Given the description of an element on the screen output the (x, y) to click on. 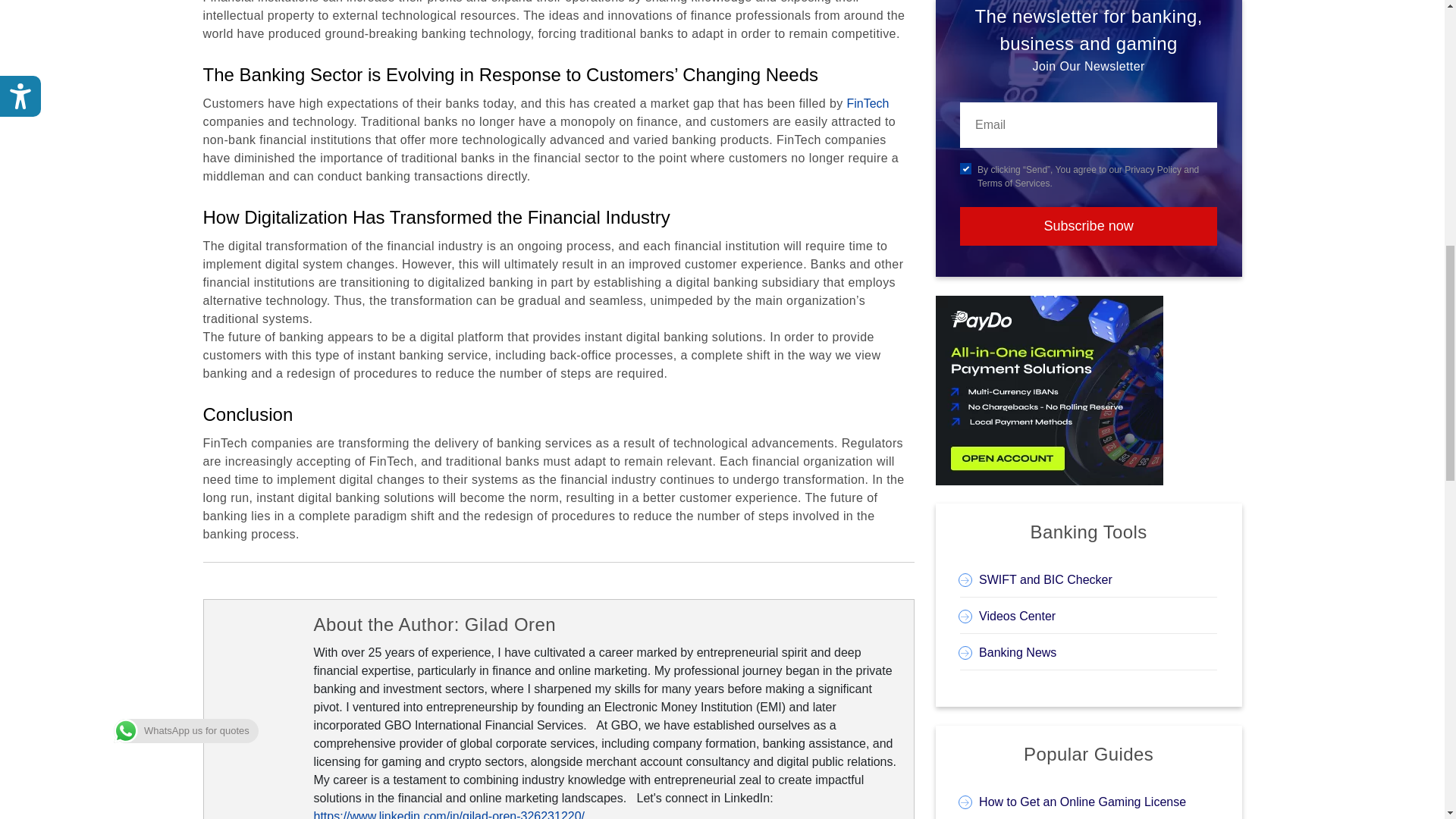
Subscribe now (1088, 226)
